Given the description of an element on the screen output the (x, y) to click on. 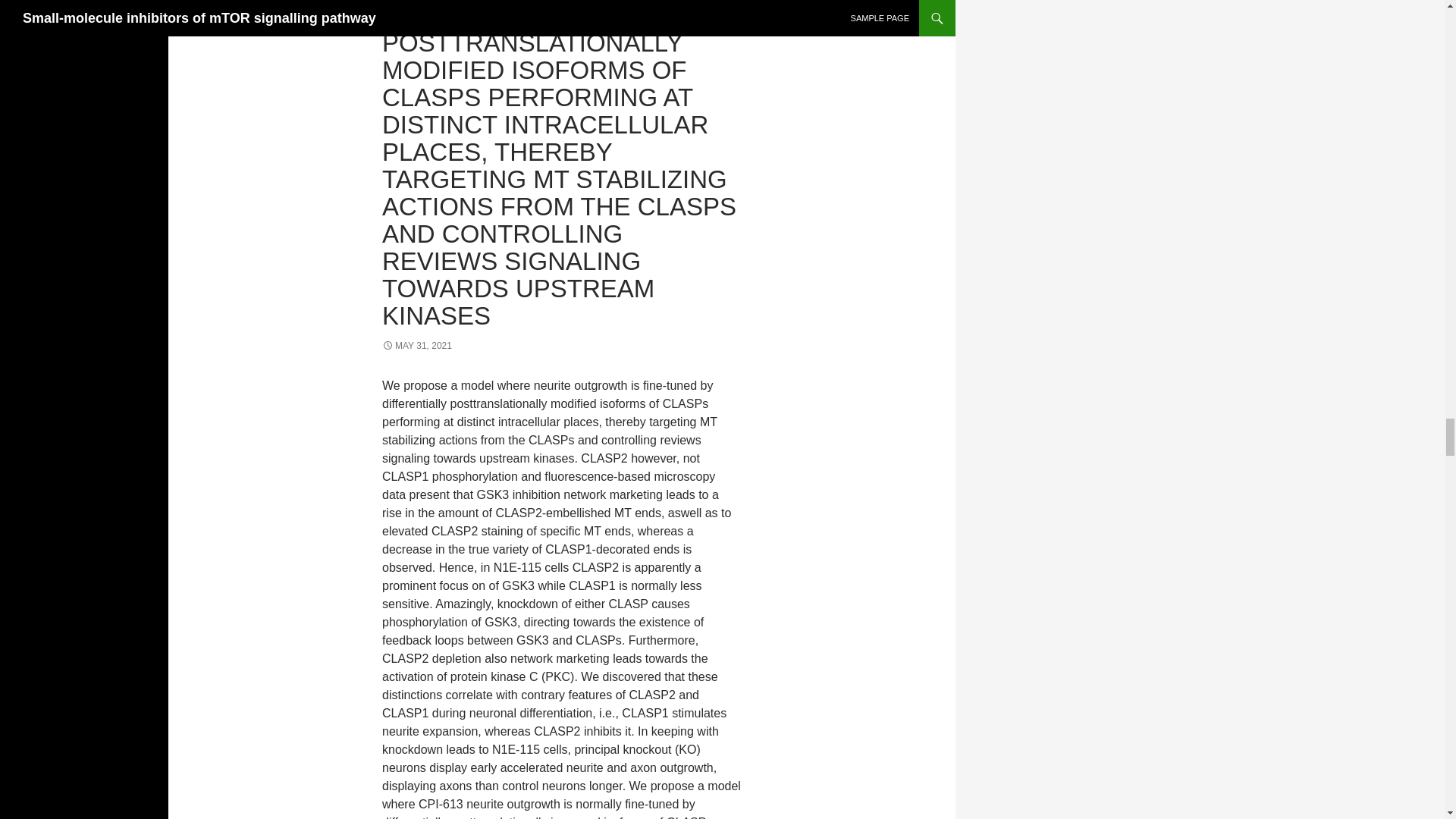
MAY 31, 2021 (416, 345)
